Given the description of an element on the screen output the (x, y) to click on. 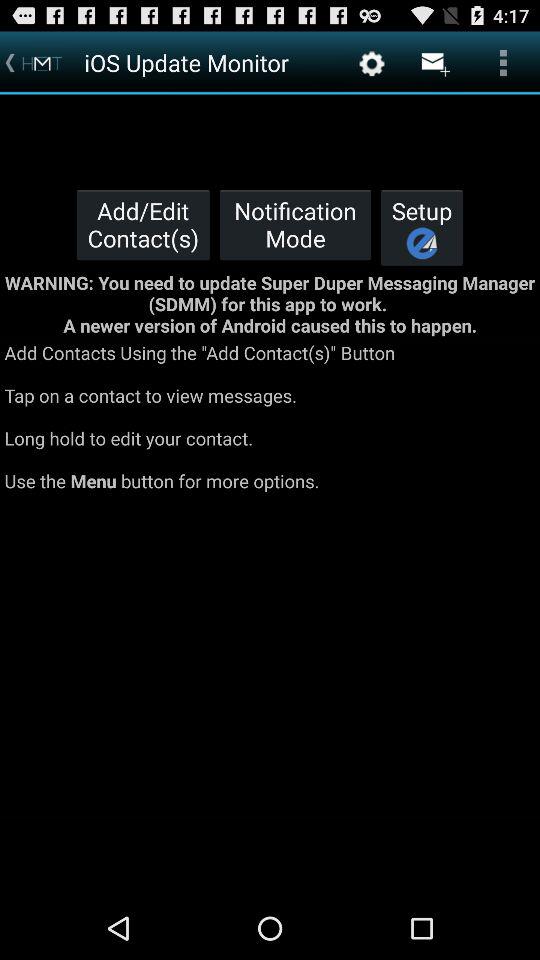
tap the notification
mode button (295, 224)
